Given the description of an element on the screen output the (x, y) to click on. 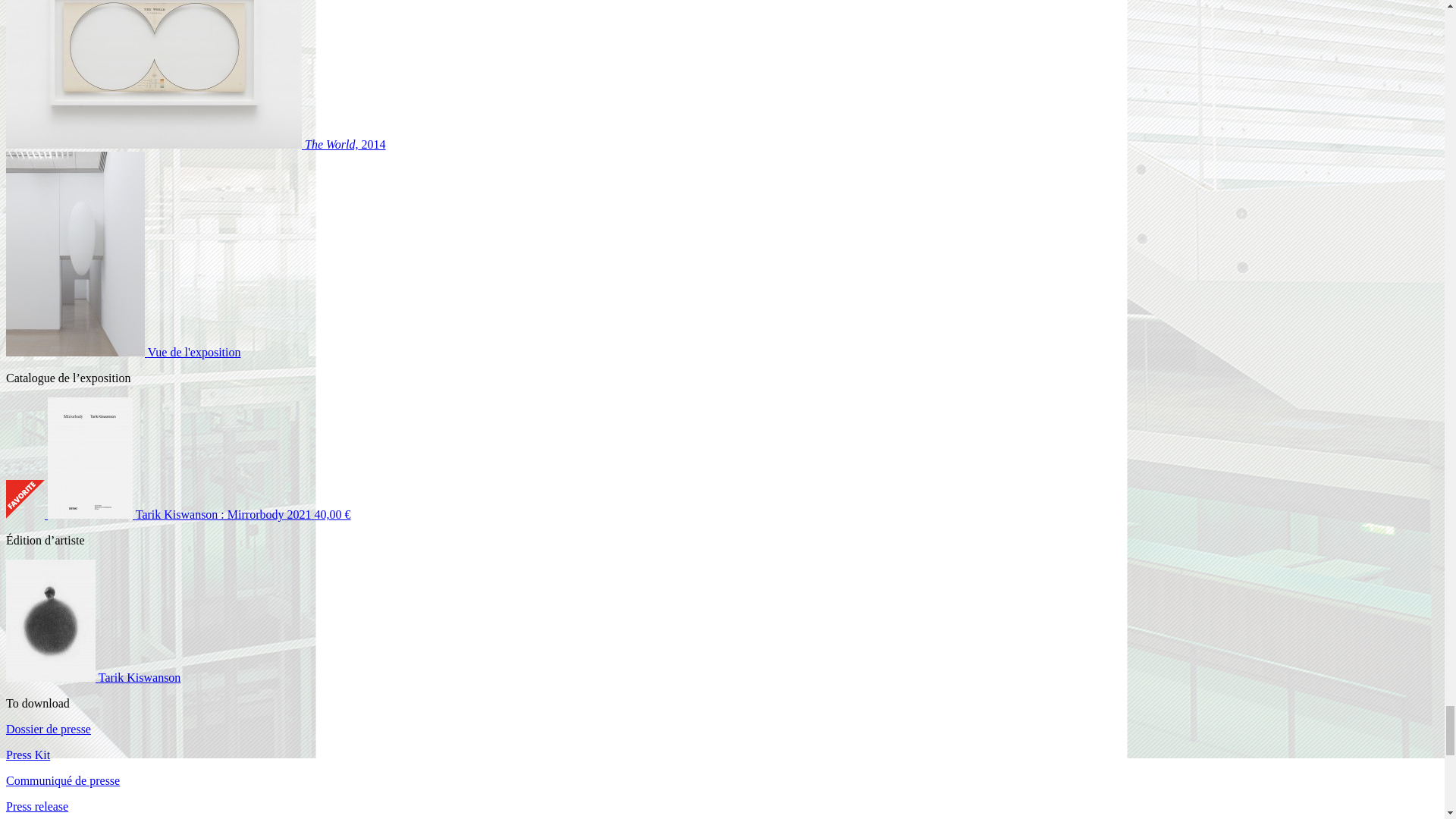
Photo Vinciane Lebrun (123, 351)
